Given the description of an element on the screen output the (x, y) to click on. 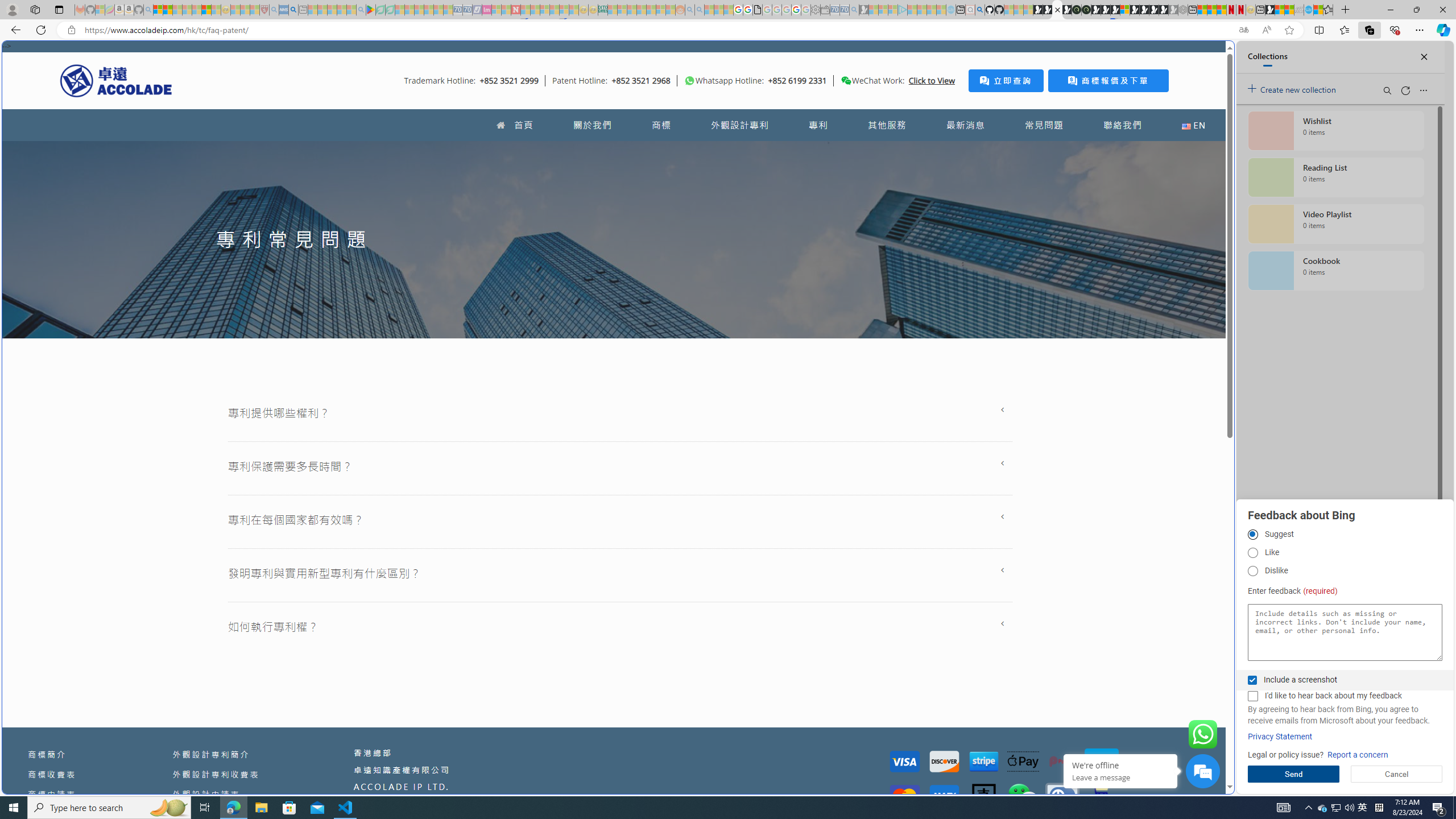
Wallet - Sleeping (824, 9)
Accolade IP HK Logo (116, 80)
Bluey: Let's Play! - Apps on Google Play (370, 9)
Like (1252, 552)
